Given the description of an element on the screen output the (x, y) to click on. 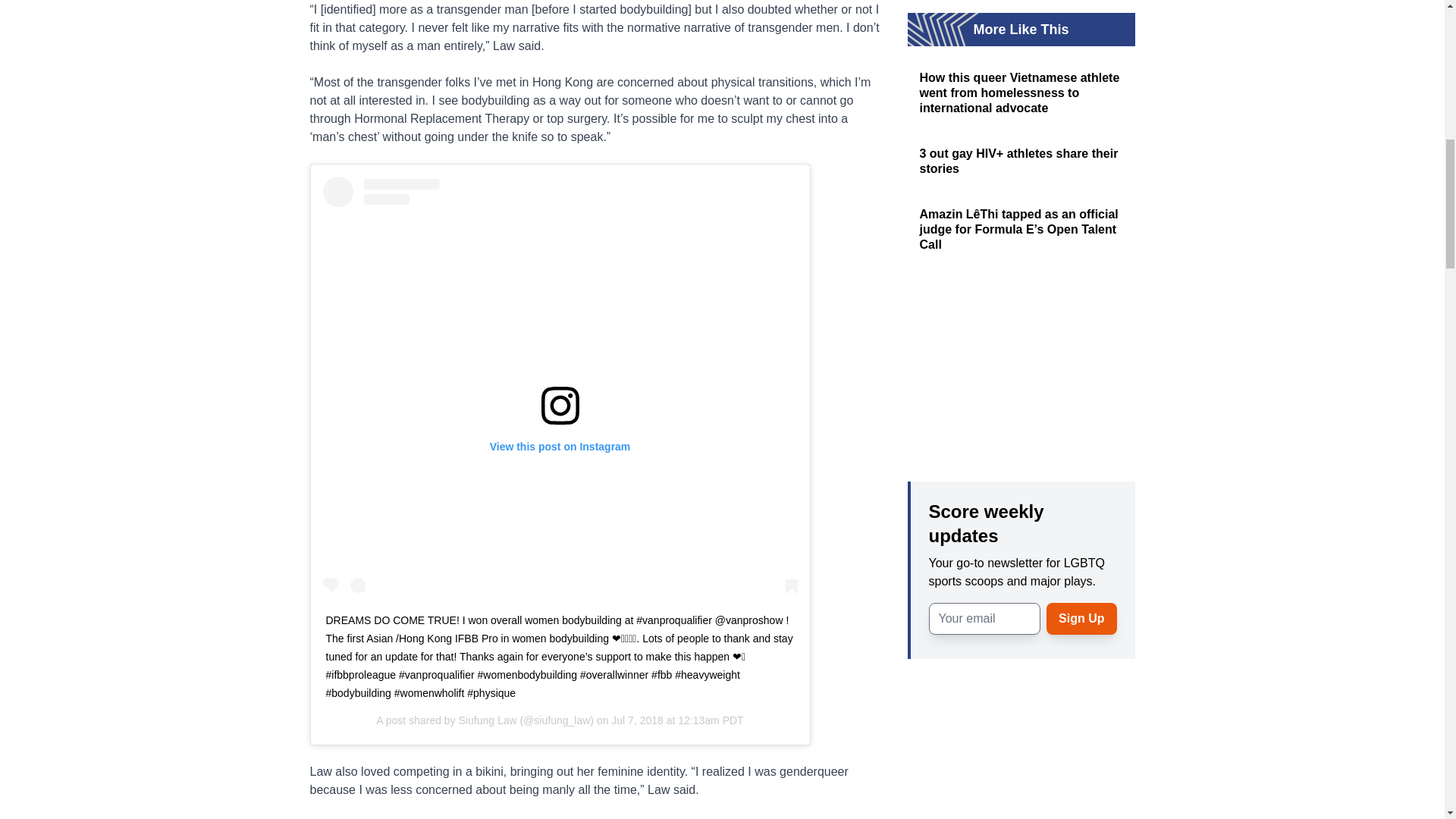
Siufung Law (487, 720)
Sign Up (1081, 618)
